Given the description of an element on the screen output the (x, y) to click on. 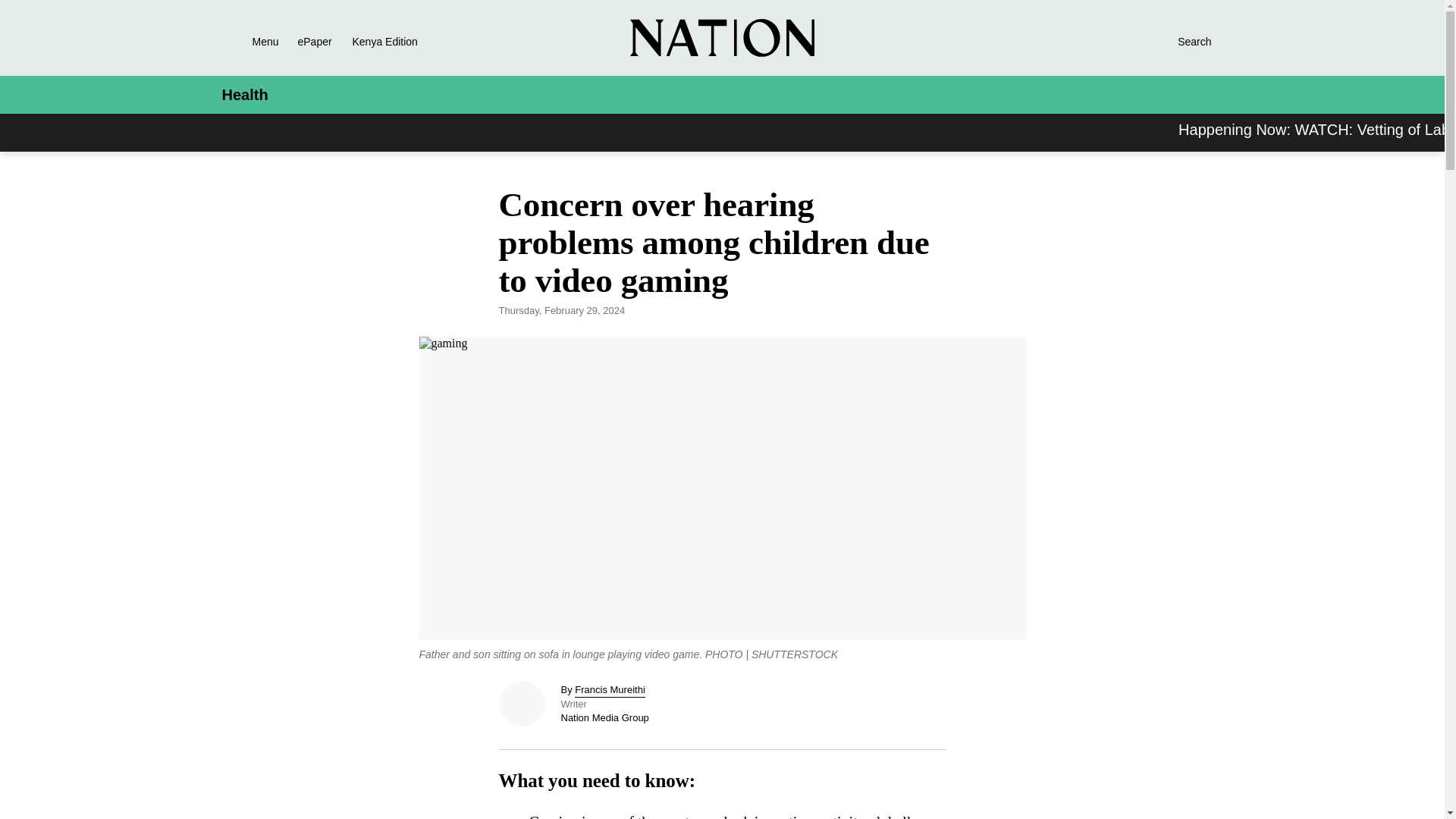
Health (244, 94)
Search (1178, 41)
ePaper (314, 41)
Menu (246, 41)
Kenya Edition (398, 41)
